Given the description of an element on the screen output the (x, y) to click on. 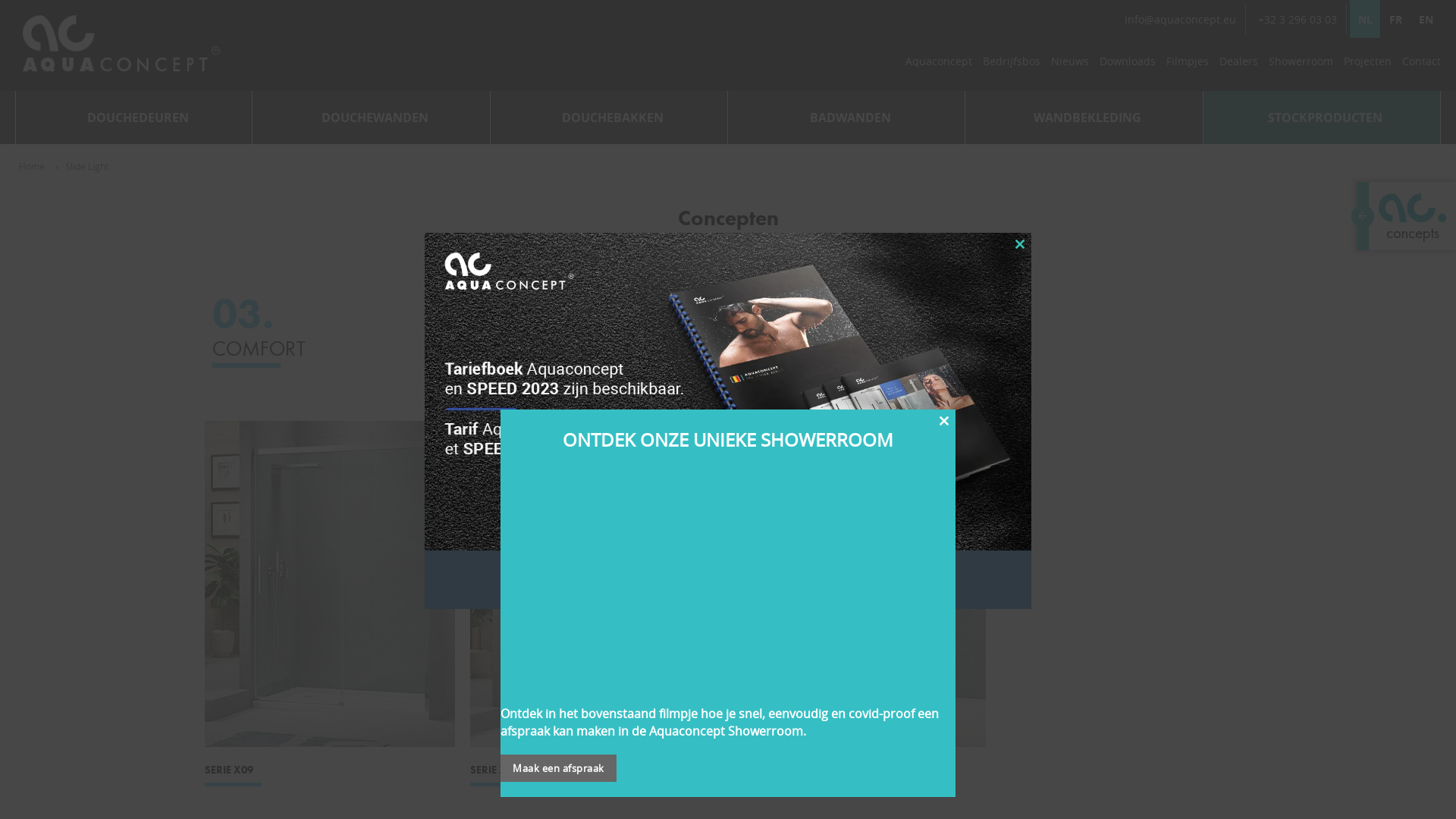
Projecten Element type: text (1367, 64)
Dealers Element type: text (1238, 64)
FR Element type: text (1395, 18)
Contact Element type: text (1421, 64)
DOUCHEBAKKEN Element type: text (609, 117)
Close this module Element type: text (943, 420)
Downloads Element type: text (1127, 64)
Nieuws Element type: text (1069, 64)
BADWANDEN Element type: text (846, 117)
Filmpjes Element type: text (1187, 64)
Home Element type: text (31, 165)
Close this module Element type: text (1019, 243)
DOUCHEDEUREN Element type: text (133, 117)
Download Element type: text (727, 579)
Showerroom Element type: text (1300, 64)
EN Element type: text (1425, 18)
DOUCHEWANDEN Element type: text (370, 117)
info@aquaconcept.eu Element type: text (1180, 19)
+32 3 296 03 03 Element type: text (1297, 19)
STOCKPRODUCTEN Element type: text (1321, 117)
NL Element type: text (1364, 18)
Maak een afspraak Element type: text (558, 767)
Aquaconcept Element type: text (938, 64)
WANDBEKLEDING Element type: text (1083, 117)
Bedrijfsbos Element type: text (1011, 64)
